Given the description of an element on the screen output the (x, y) to click on. 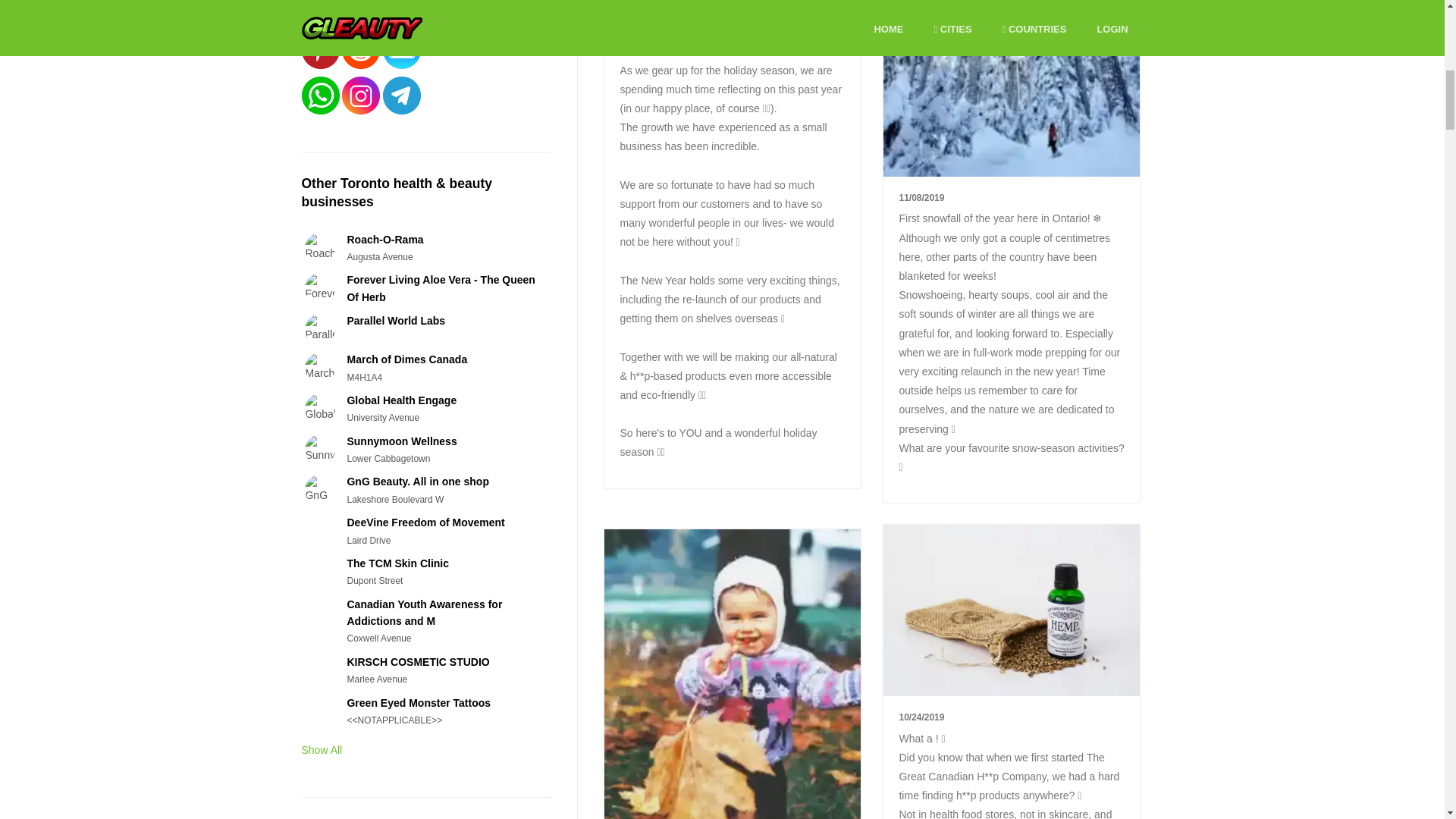
Parallel World Labs (395, 320)
KIRSCH COSMETIC STUDIO (417, 662)
March of Dimes Canada (406, 358)
DeeVine Freedom of Movement (424, 522)
The TCM Skin Clinic (397, 563)
Canadian Youth Awareness for Addictions and M (424, 612)
Forever Living Aloe Vera - The Queen Of Herb (440, 287)
Roach-O-Rama (384, 239)
Global Health Engage (401, 399)
GnG Beauty. All in one shop (416, 481)
Sunnymoon Wellness (401, 440)
